Given the description of an element on the screen output the (x, y) to click on. 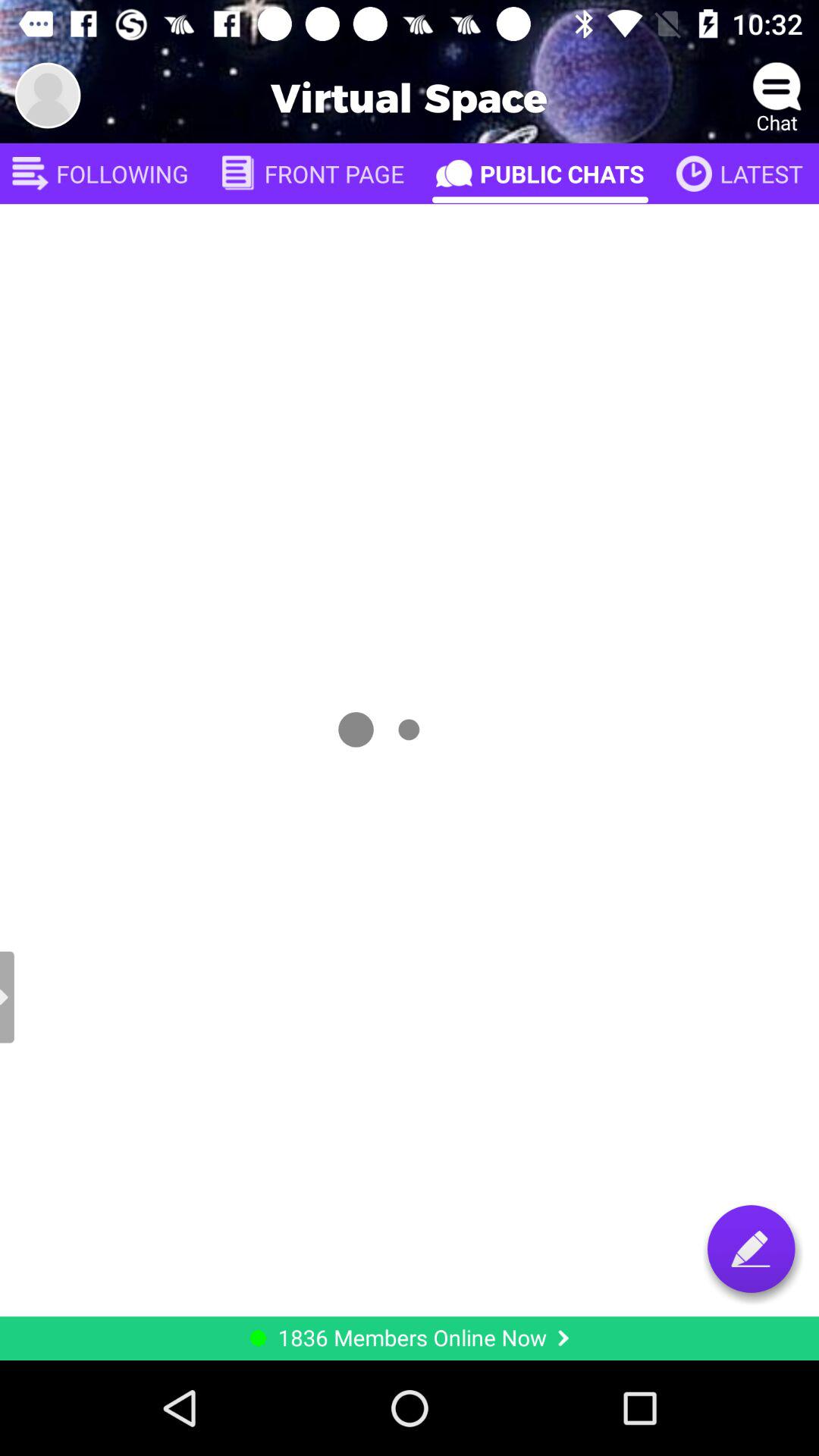
write a message (751, 1248)
